Given the description of an element on the screen output the (x, y) to click on. 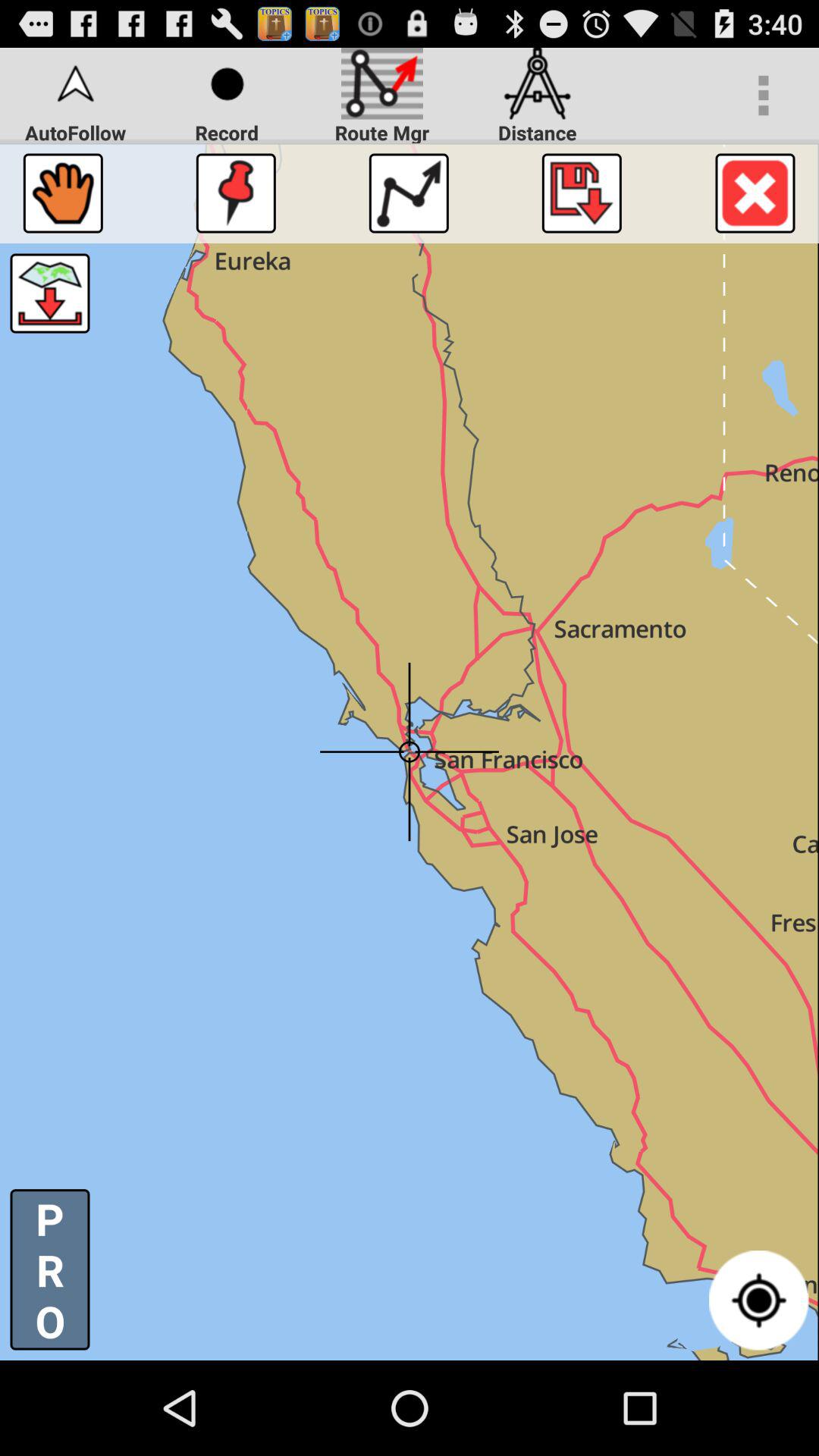
click the icon to the right of p
r
o button (758, 1300)
